Given the description of an element on the screen output the (x, y) to click on. 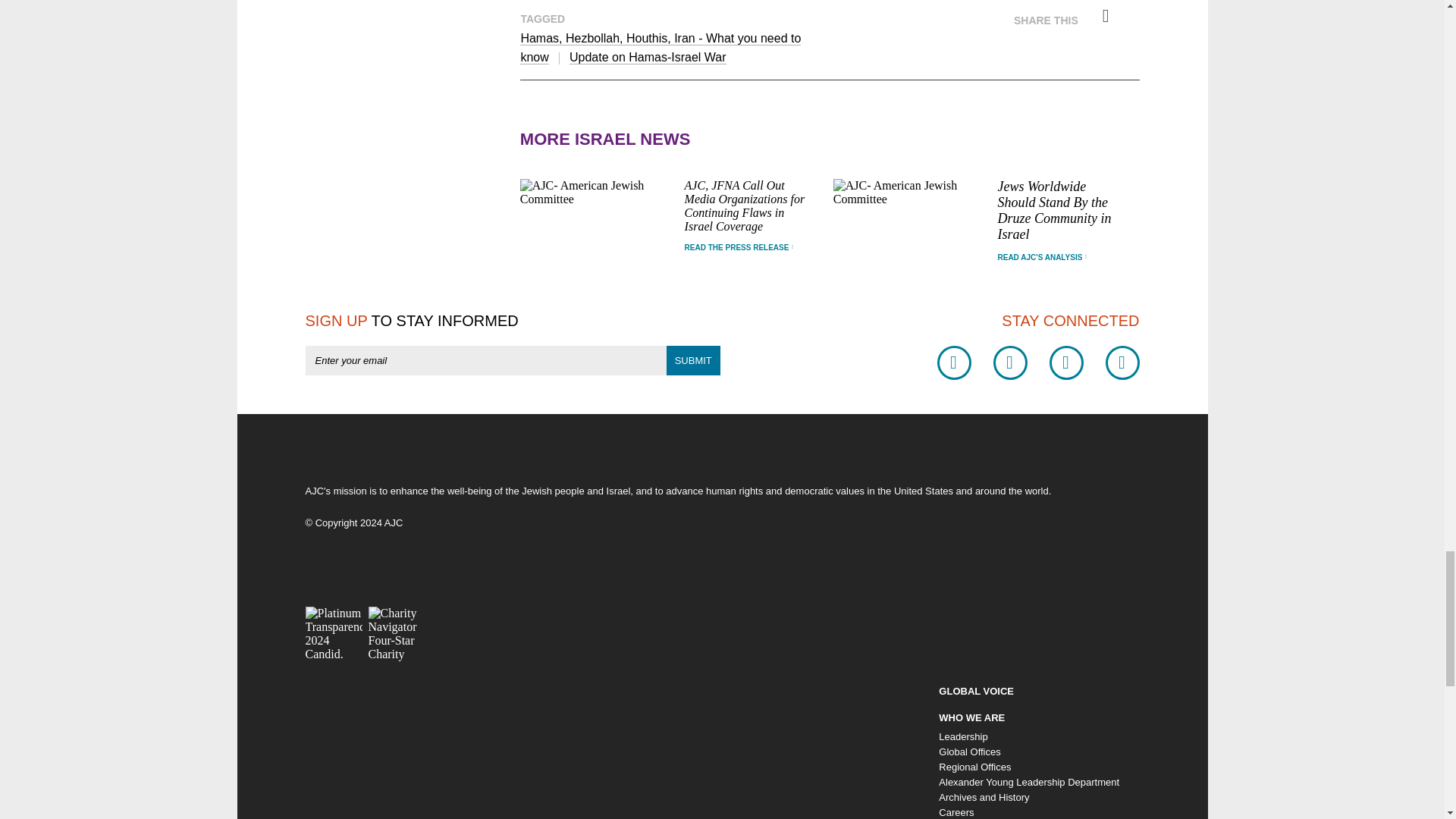
Submit (692, 360)
Home (379, 502)
